Given the description of an element on the screen output the (x, y) to click on. 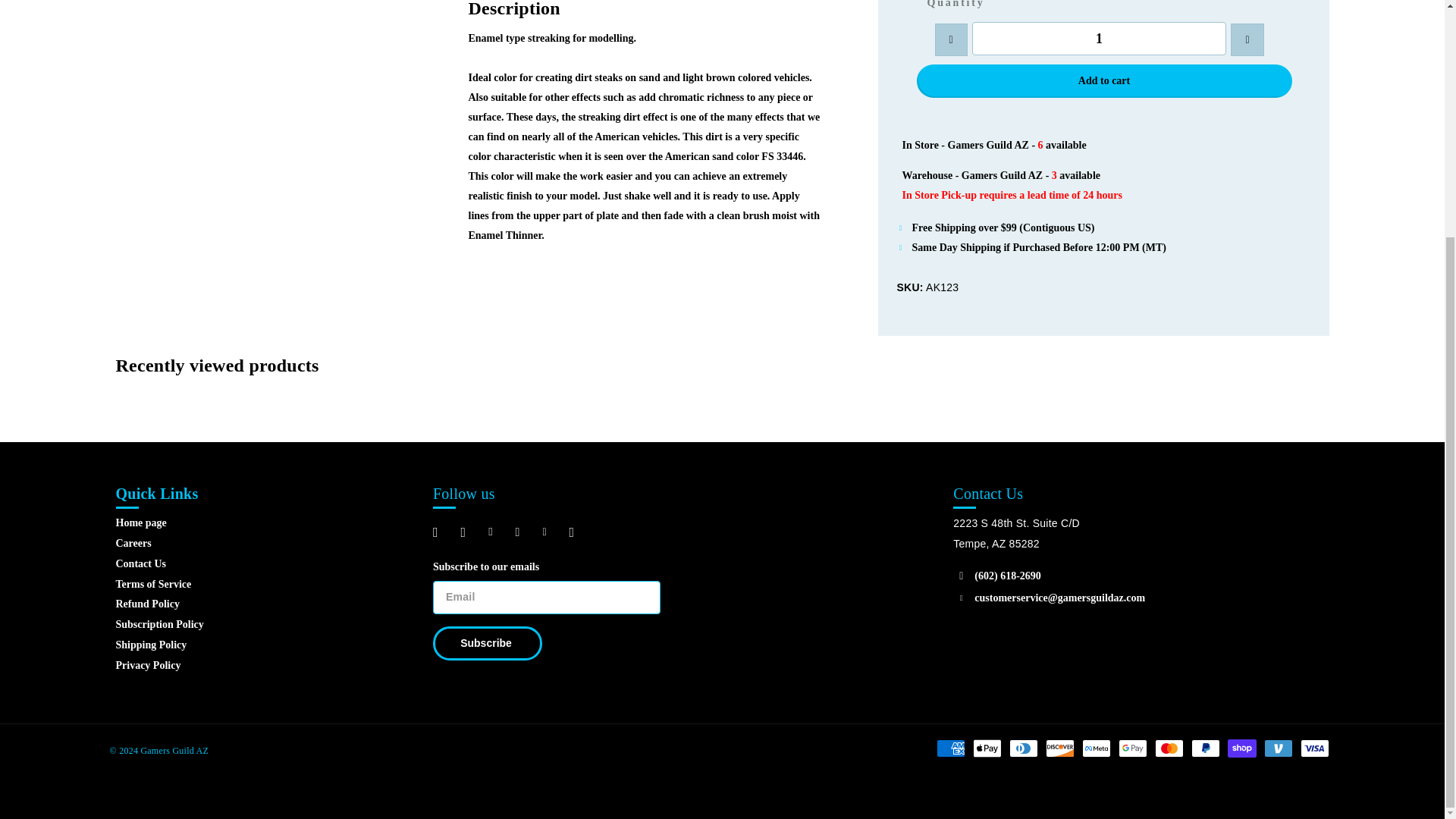
Shop Pay (1241, 748)
1 (1098, 39)
Shipping Policy (150, 644)
Home page (140, 522)
Apple Pay (986, 748)
Visa (1313, 748)
Discover (1059, 748)
American Express (949, 748)
Privacy Policy (147, 665)
Diners Club (1022, 748)
